Given the description of an element on the screen output the (x, y) to click on. 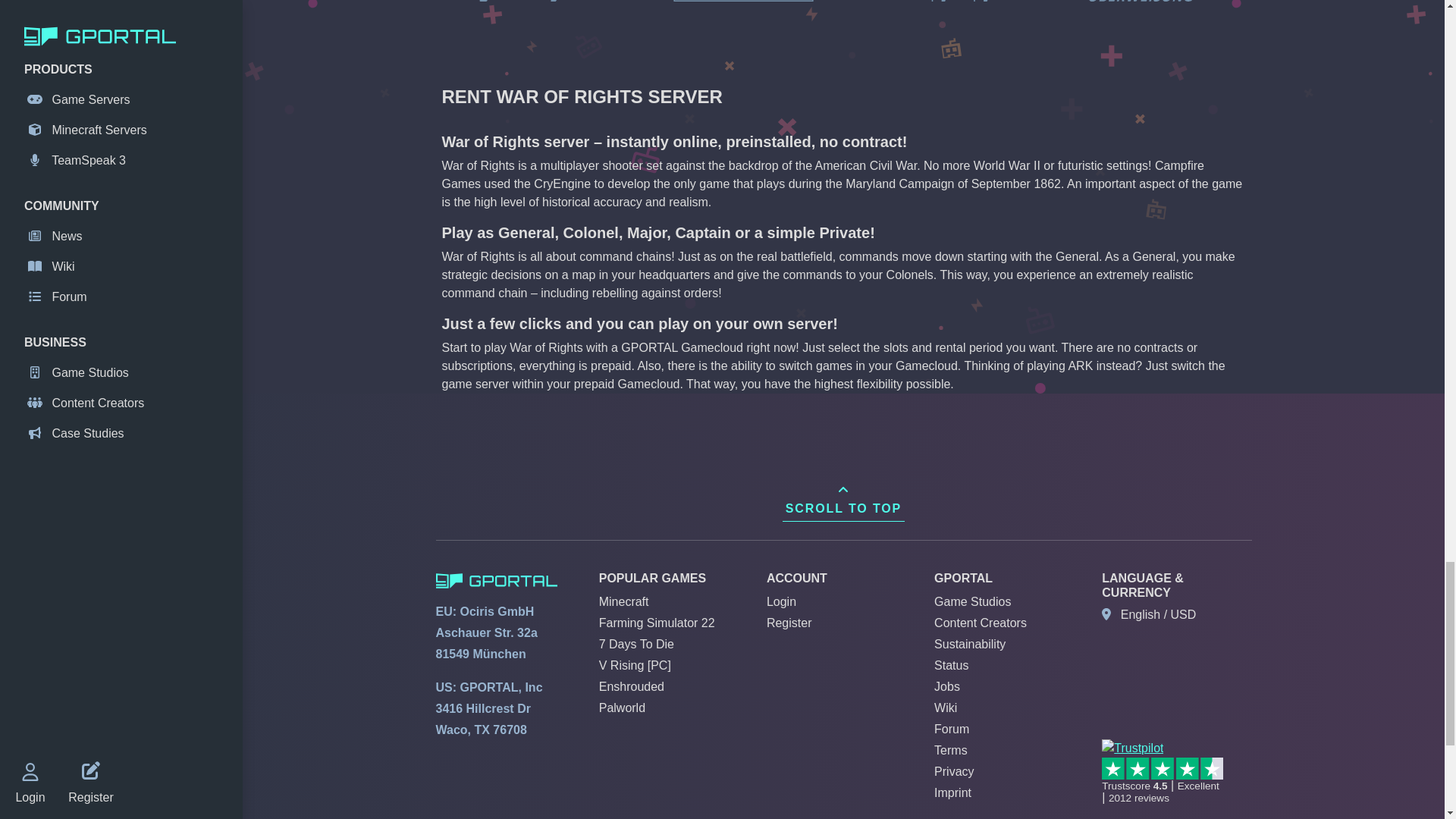
SCROLL TO TOP (843, 499)
Minecraft (623, 601)
Enshrouded (630, 686)
7 Days To Die (636, 644)
Farming Simulator 22 (656, 622)
Palworld (621, 707)
SCROLL TO TOP (843, 499)
Register (789, 622)
